Given the description of an element on the screen output the (x, y) to click on. 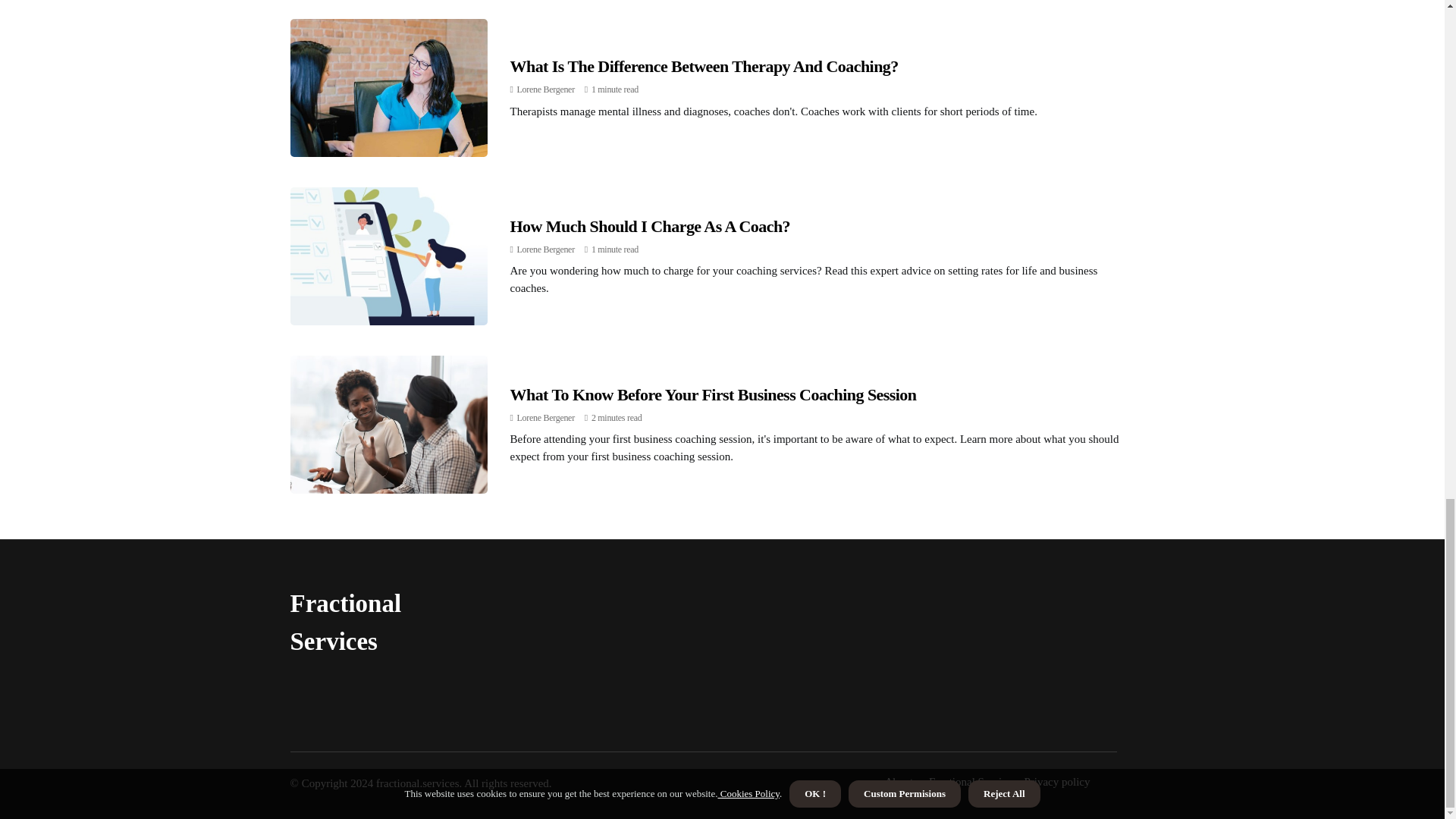
How Much Should I Charge As A Coach? (649, 226)
Lorene Bergener (545, 417)
Posts by Lorene Bergener (545, 417)
What Is The Difference Between Therapy And Coaching? (703, 66)
Lorene Bergener (545, 249)
Posts by Lorene Bergener (545, 89)
What To Know Before Your First Business Coaching Session (712, 394)
Posts by Lorene Bergener (545, 249)
Lorene Bergener (545, 89)
